Given the description of an element on the screen output the (x, y) to click on. 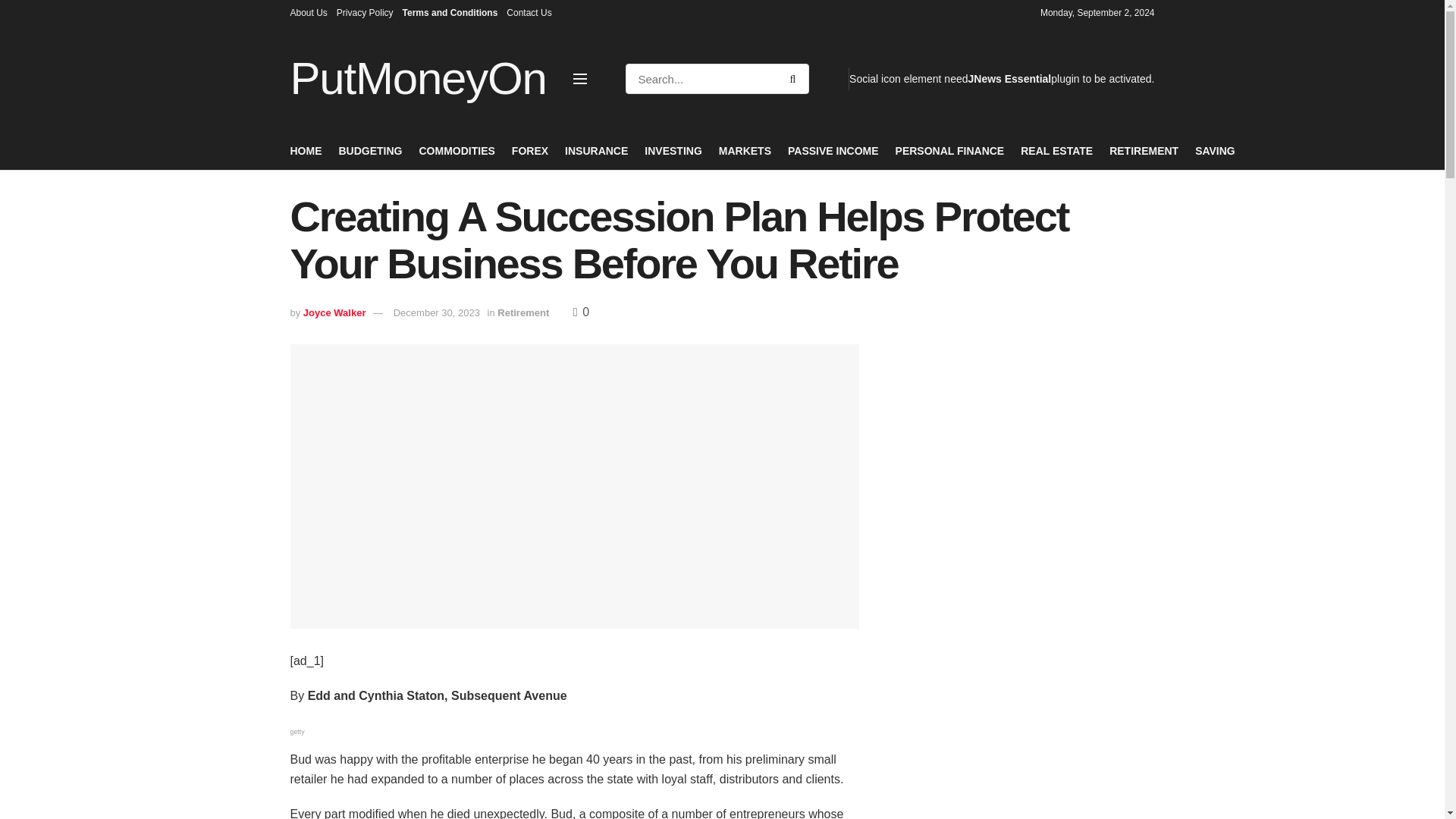
Privacy Policy (364, 12)
Contact Us (528, 12)
FOREX (530, 150)
Retirement (522, 312)
SAVING (1214, 150)
RETIREMENT (1143, 150)
PASSIVE INCOME (833, 150)
Terms and Conditions (450, 12)
BUDGETING (369, 150)
MARKETS (745, 150)
